Given the description of an element on the screen output the (x, y) to click on. 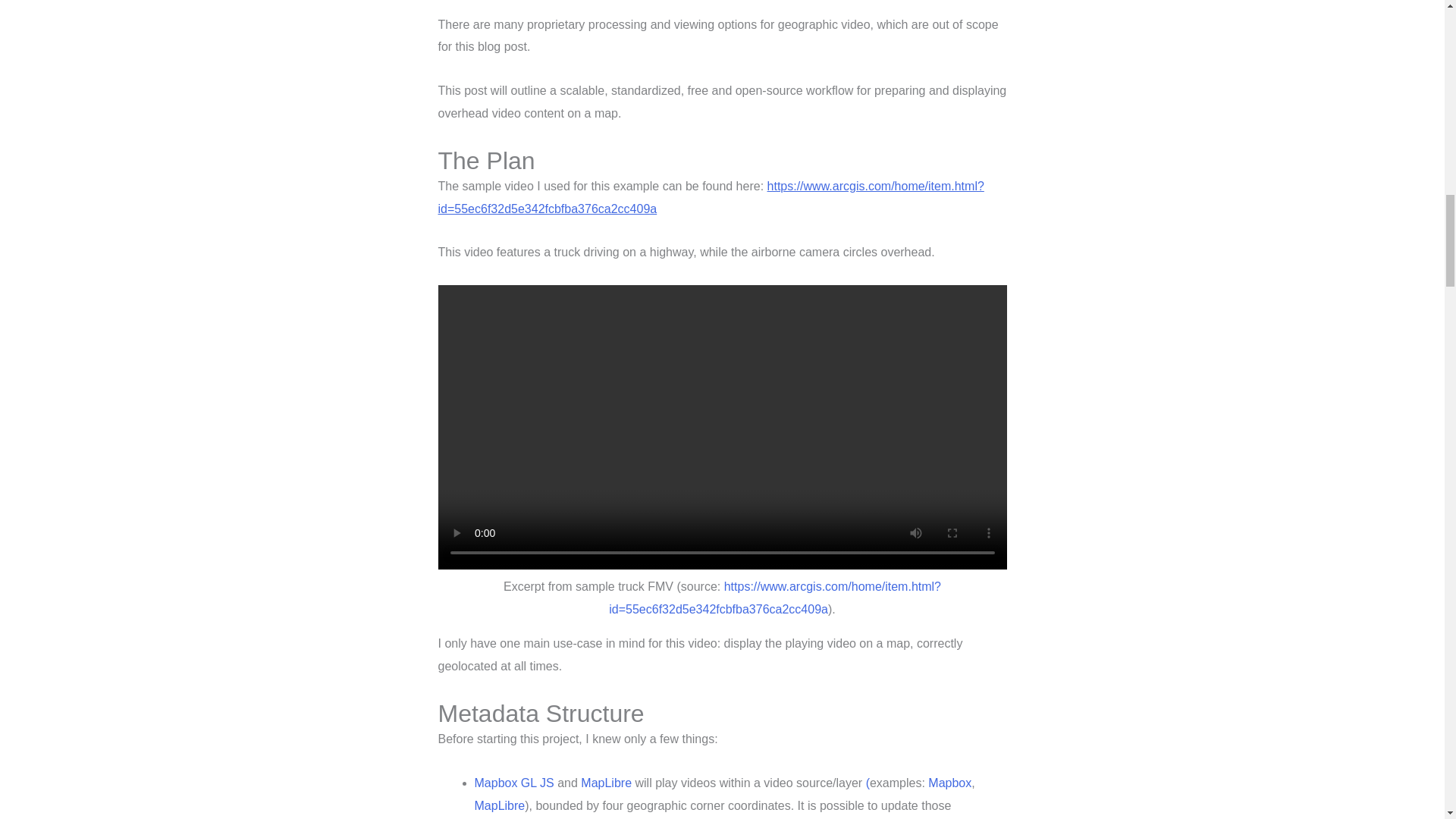
MapLibre (605, 782)
Mapbox (949, 782)
MapLibre (499, 805)
Mapbox GL JS (514, 782)
